Given the description of an element on the screen output the (x, y) to click on. 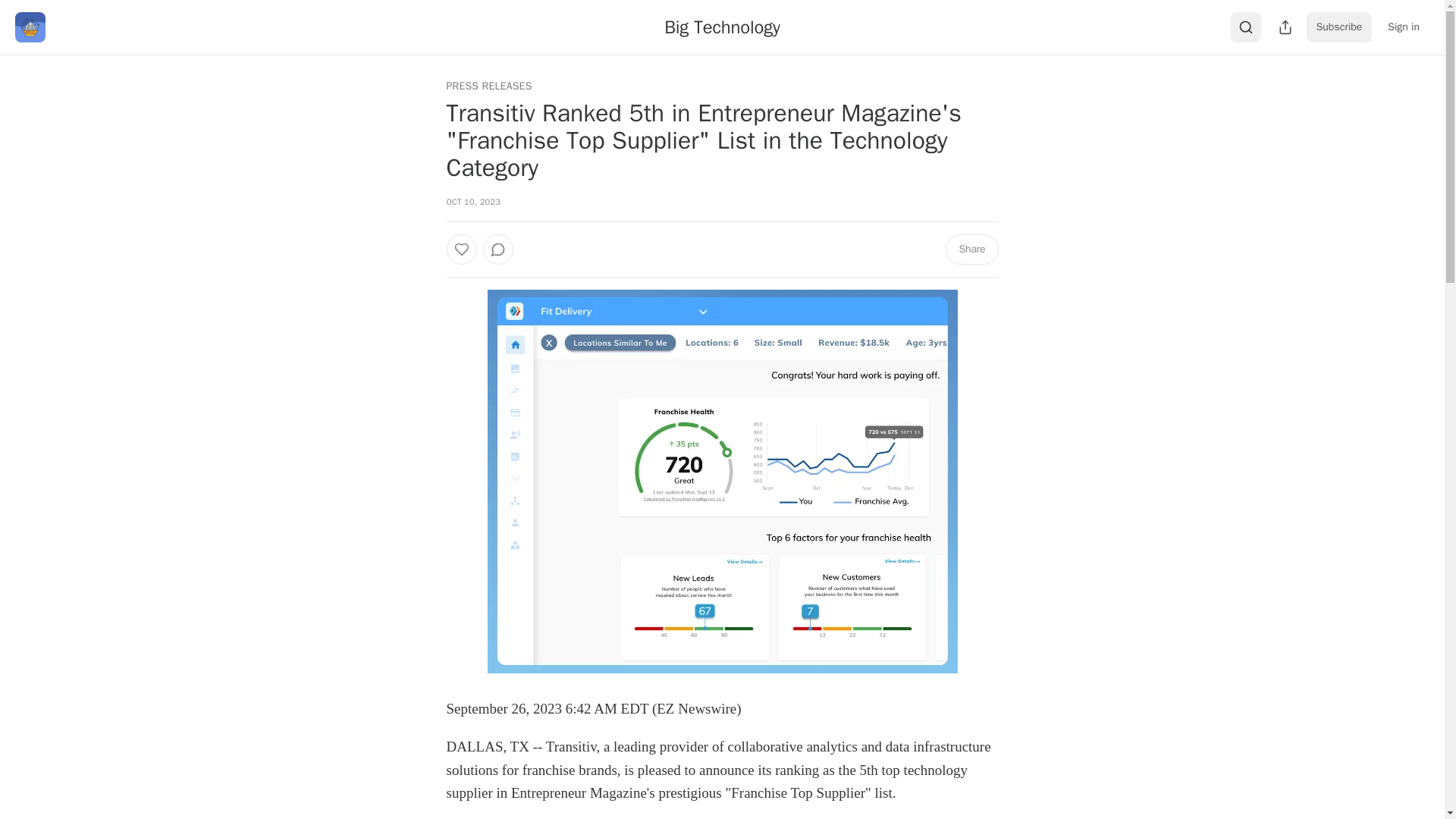
PRESS RELEASES (488, 86)
Big Technology (721, 26)
Sign in (1403, 27)
Share (970, 249)
Subscribe (1339, 27)
